Given the description of an element on the screen output the (x, y) to click on. 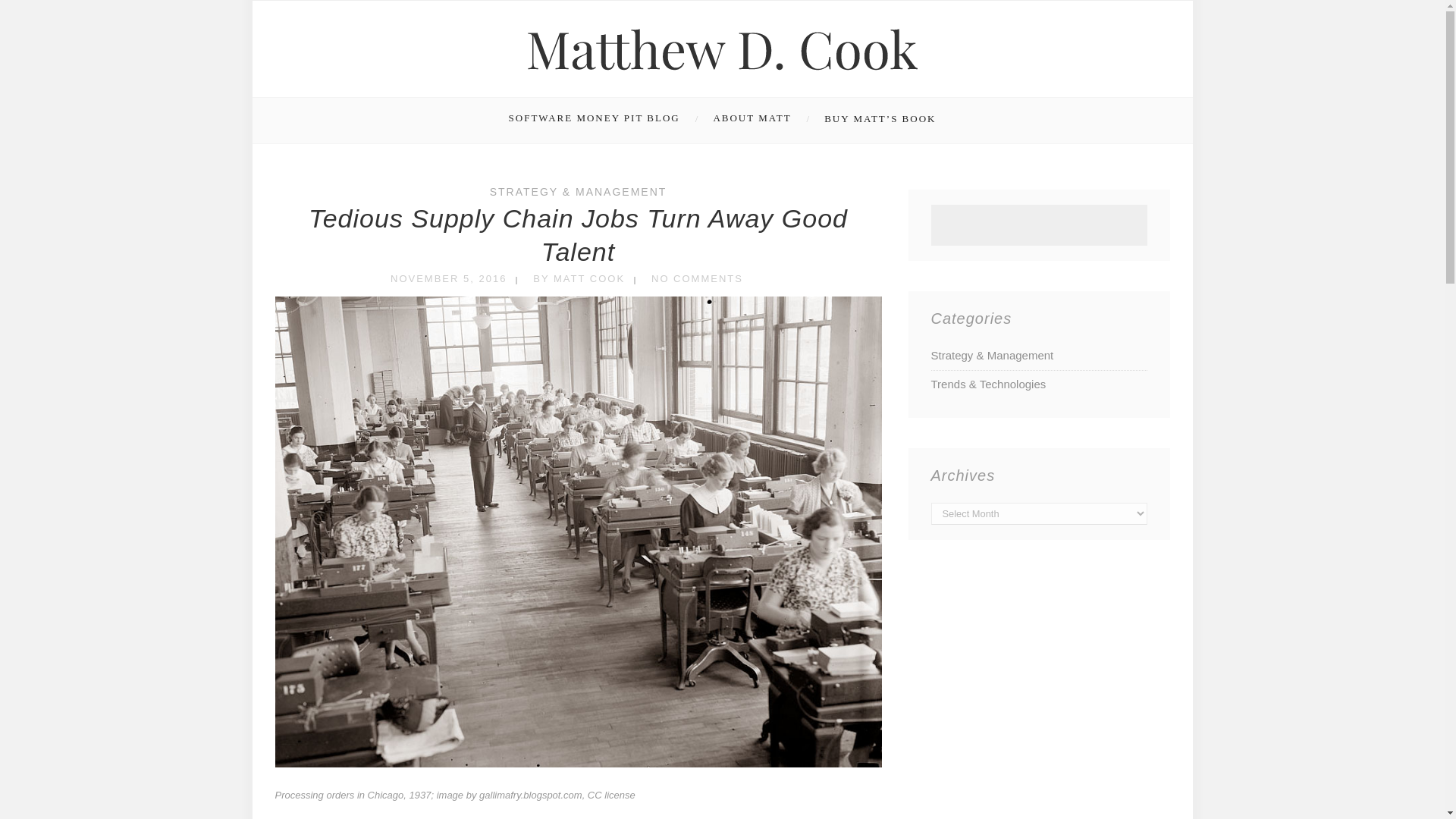
NO COMMENTS (696, 278)
Tedious Supply Chain Jobs Turn Away Good Talent (577, 234)
BY MATT COOK (578, 278)
ABOUT MATT (758, 119)
NOVEMBER 5, 2016 (448, 278)
SOFTWARE MONEY PIT BLOG (605, 119)
